Given the description of an element on the screen output the (x, y) to click on. 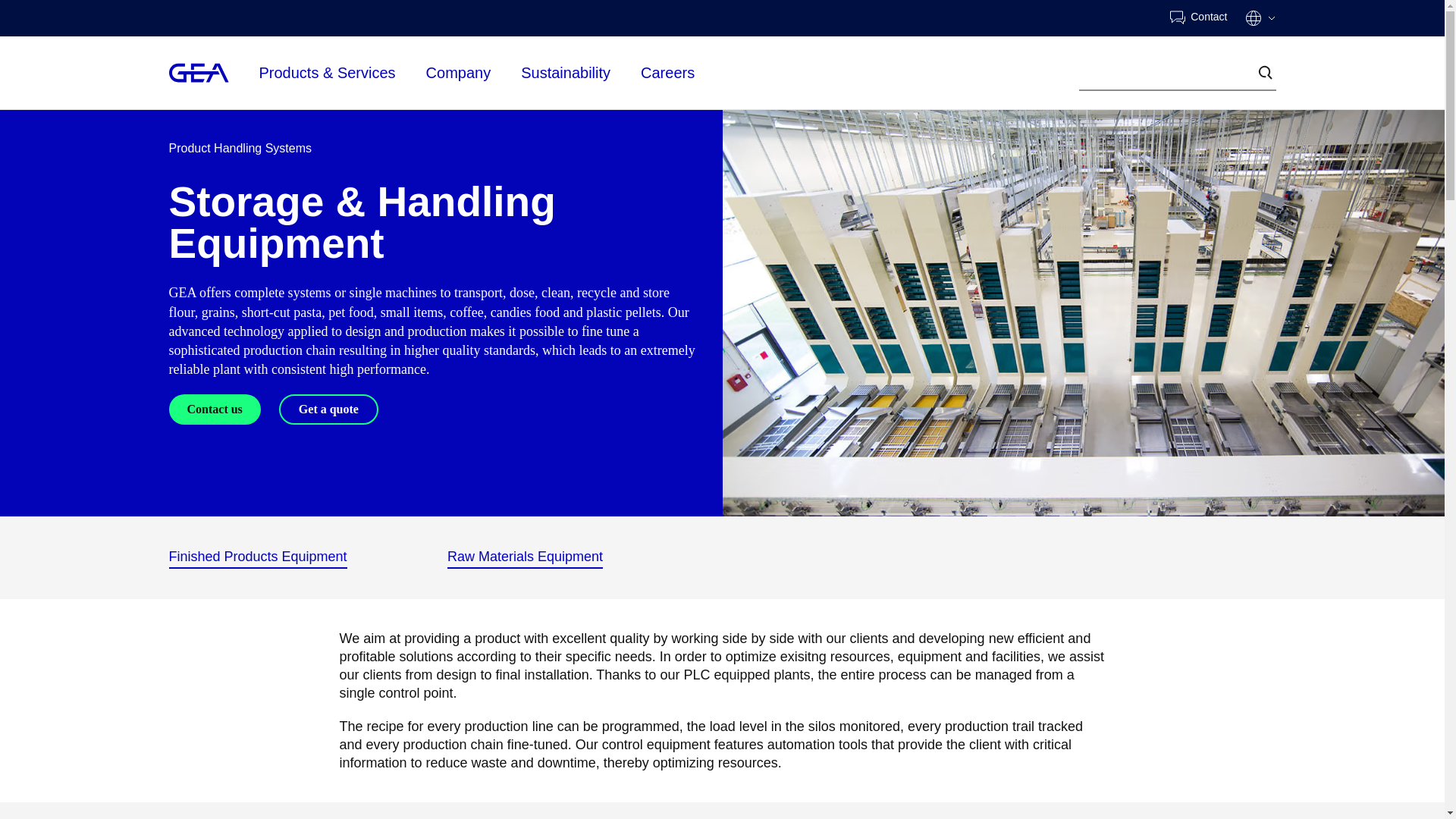
Careers (667, 71)
Sustainability (565, 72)
Company (459, 71)
Raw Materials Equipment (524, 557)
Careers (667, 72)
Finished Products Equipment (257, 557)
Contact GEA (1198, 17)
Contact (1198, 17)
Sustainability (565, 71)
Company (459, 72)
